Given the description of an element on the screen output the (x, y) to click on. 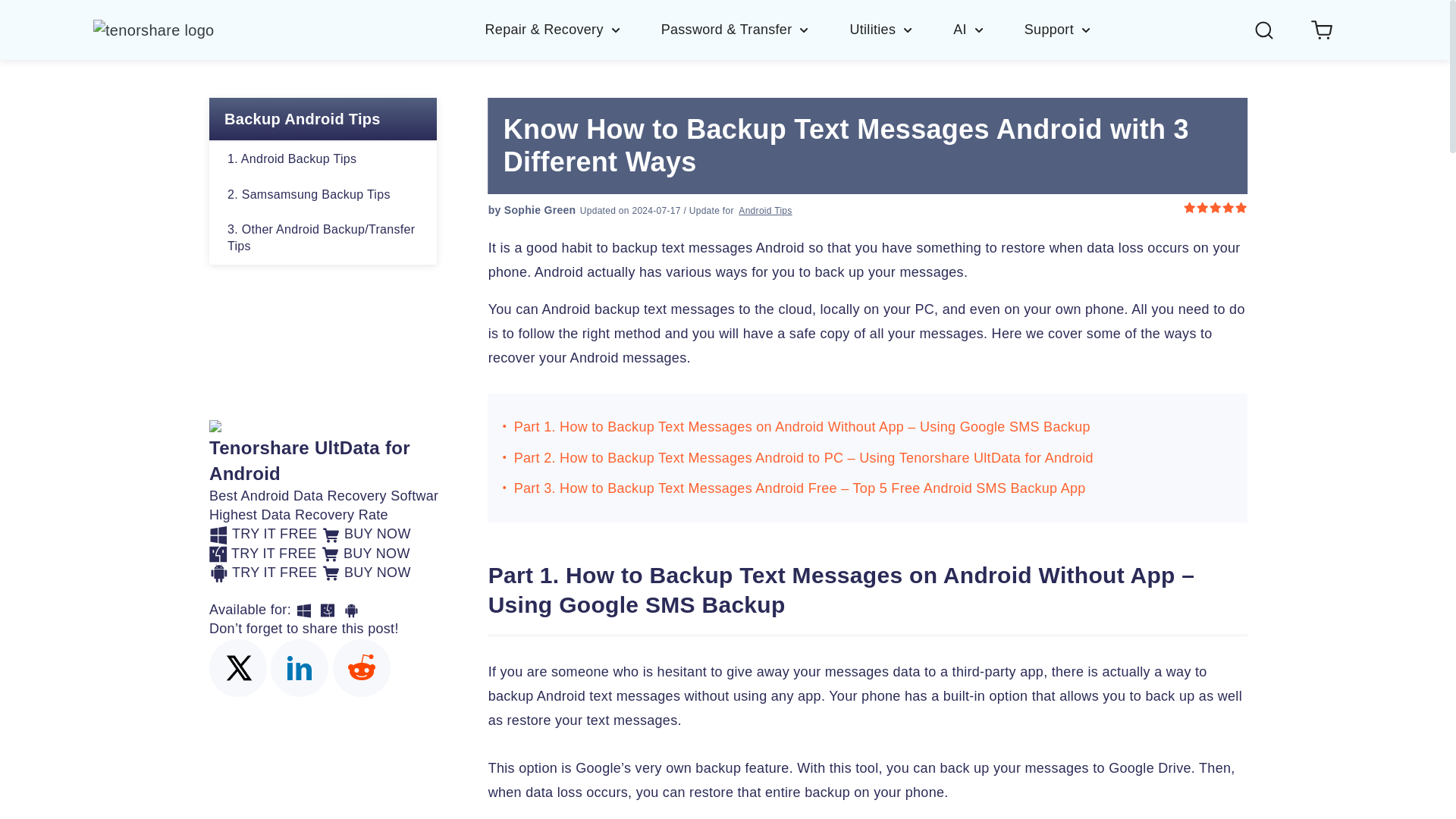
AI (989, 29)
Utilities (900, 29)
Support (1058, 29)
